Given the description of an element on the screen output the (x, y) to click on. 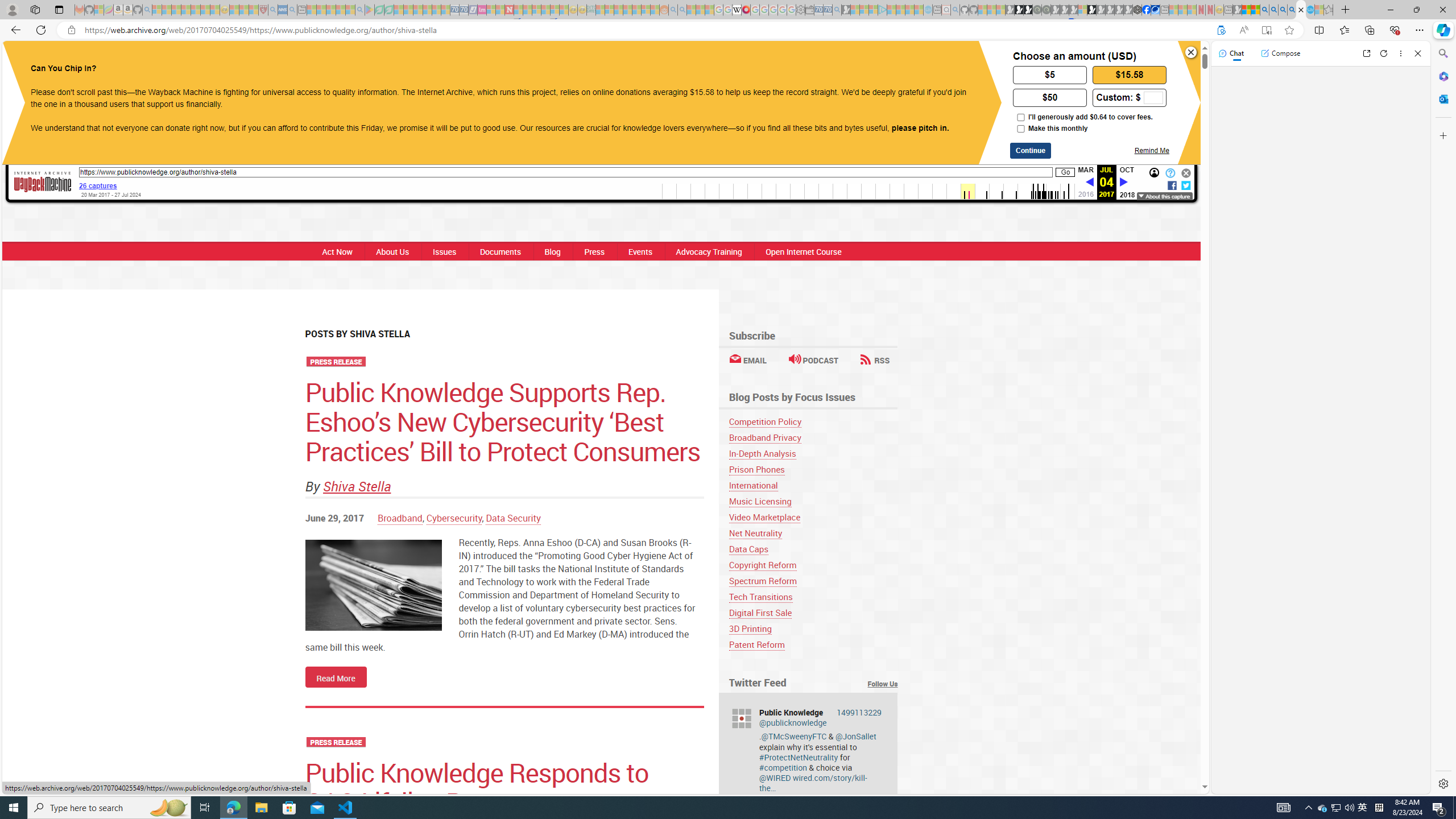
Broadband (399, 517)
Music Licensing (813, 500)
Act Now (337, 251)
Wayback Machine (42, 182)
Video Marketplace (813, 517)
Public Knowledge @publicknowledge (820, 717)
OCT (1126, 169)
